Given the description of an element on the screen output the (x, y) to click on. 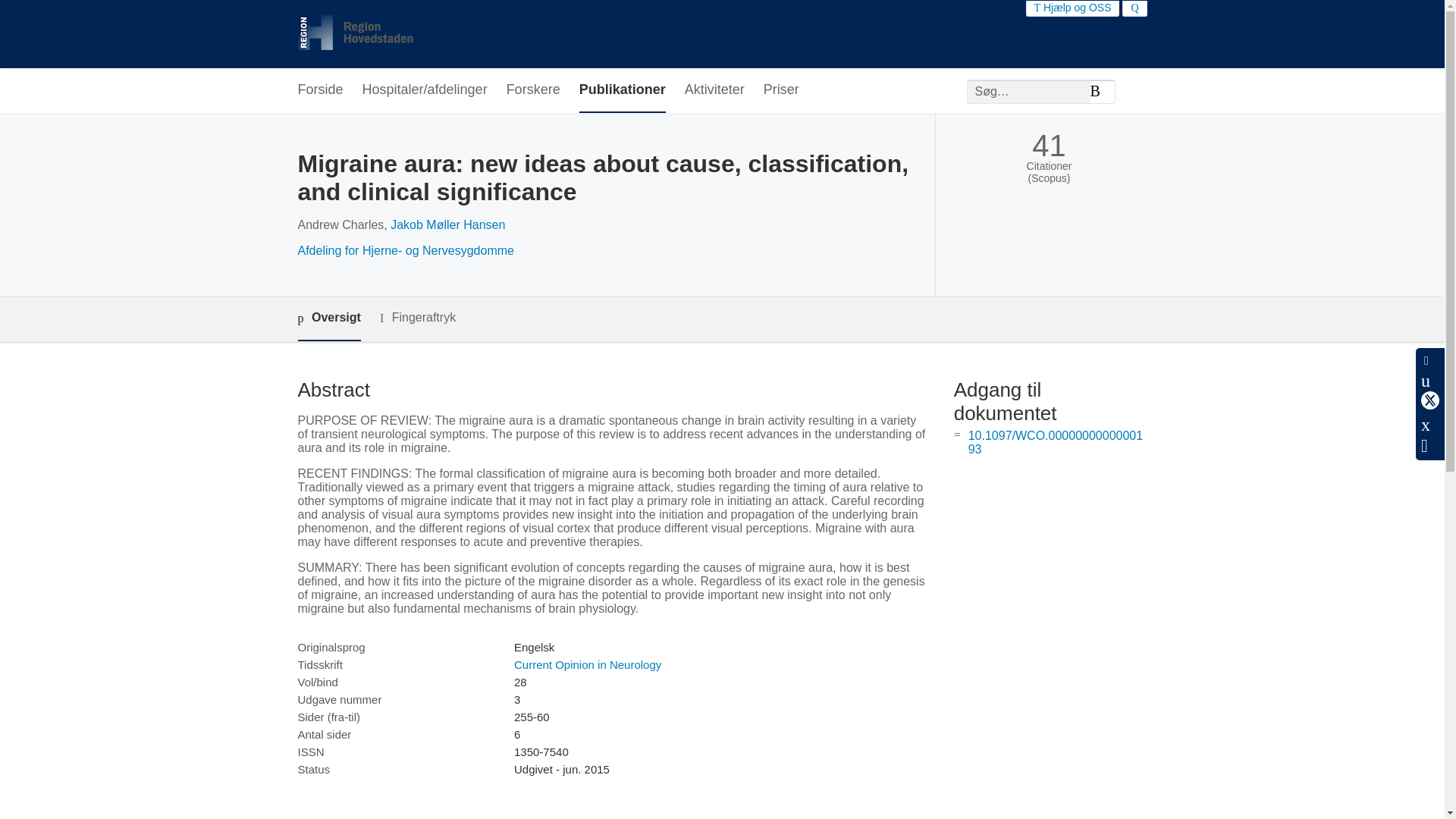
Aktiviteter (714, 90)
Forskere (533, 90)
Forside (319, 90)
Region Hovedstadens forskningsportal Forside (492, 34)
Afdeling for Hjerne- og Nervesygdomme (405, 250)
Current Opinion in Neurology (587, 664)
Oversigt (328, 318)
Publikationer (622, 90)
Fingeraftryk (417, 317)
